Given the description of an element on the screen output the (x, y) to click on. 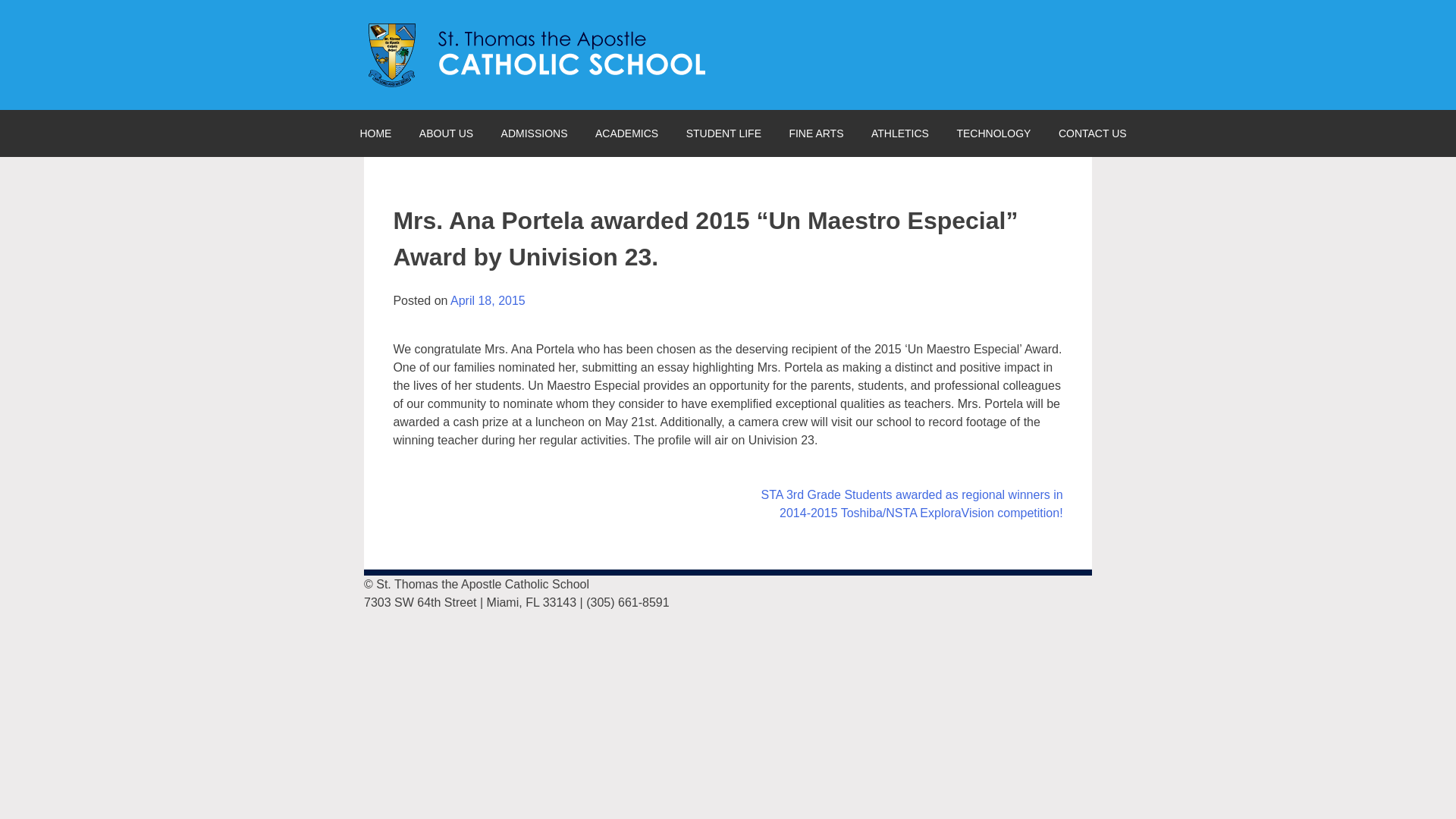
HOME (375, 133)
ACADEMICS (626, 133)
FINE ARTS (816, 133)
ATHLETICS (899, 133)
TECHNOLOGY (992, 133)
STUDENT LIFE (723, 133)
ABOUT US (445, 133)
ADMISSIONS (534, 133)
